Given the description of an element on the screen output the (x, y) to click on. 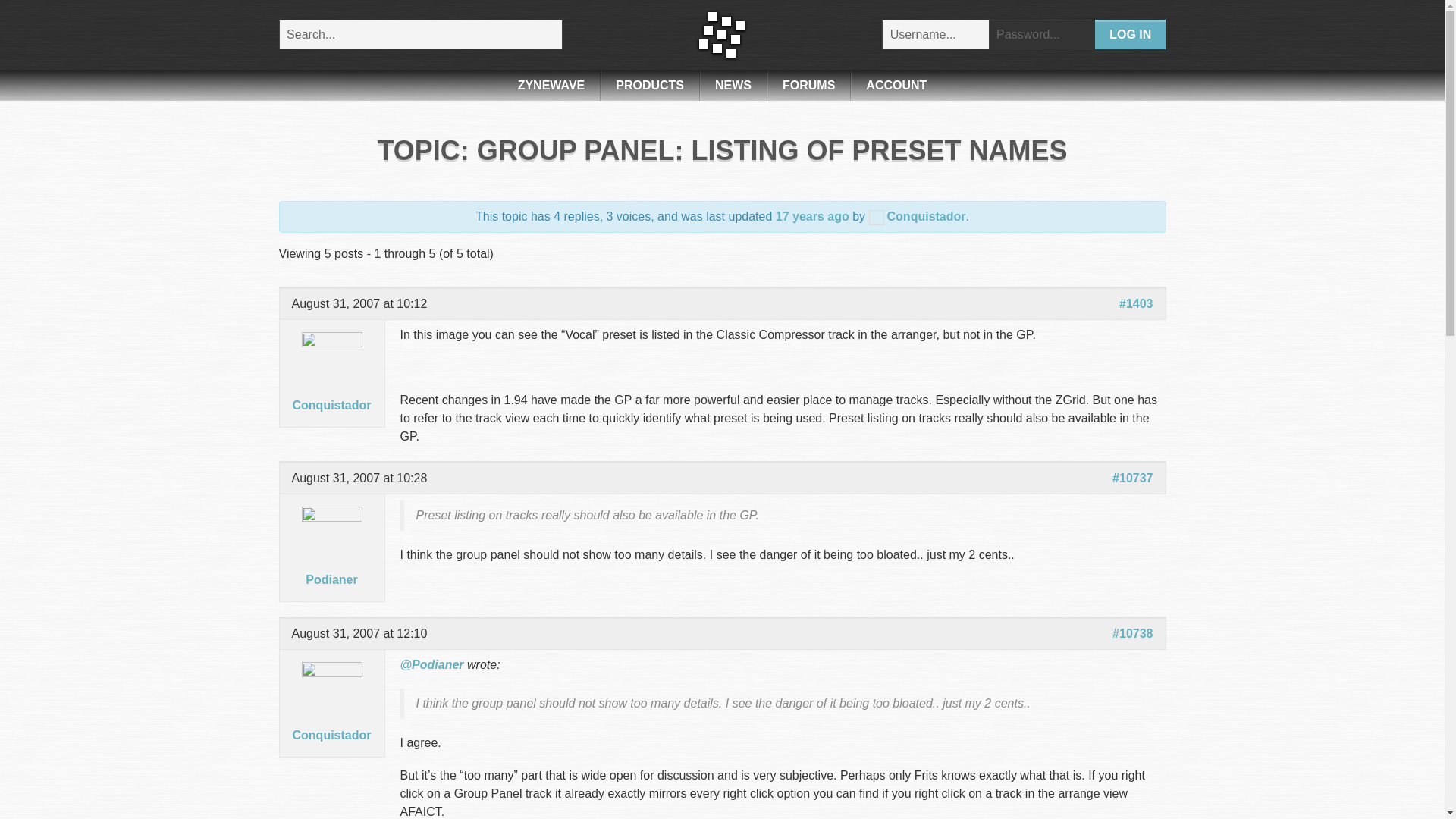
Reply To: Group Panel: Listing of Preset names (812, 215)
Conquistador (331, 382)
NEWS (733, 85)
Podianer (331, 556)
View Conquistador's profile (331, 382)
Log In (1130, 34)
View Conquistador's profile (331, 711)
PRODUCTS (648, 85)
View Podianer's profile (331, 556)
Conquistador (917, 215)
